Given the description of an element on the screen output the (x, y) to click on. 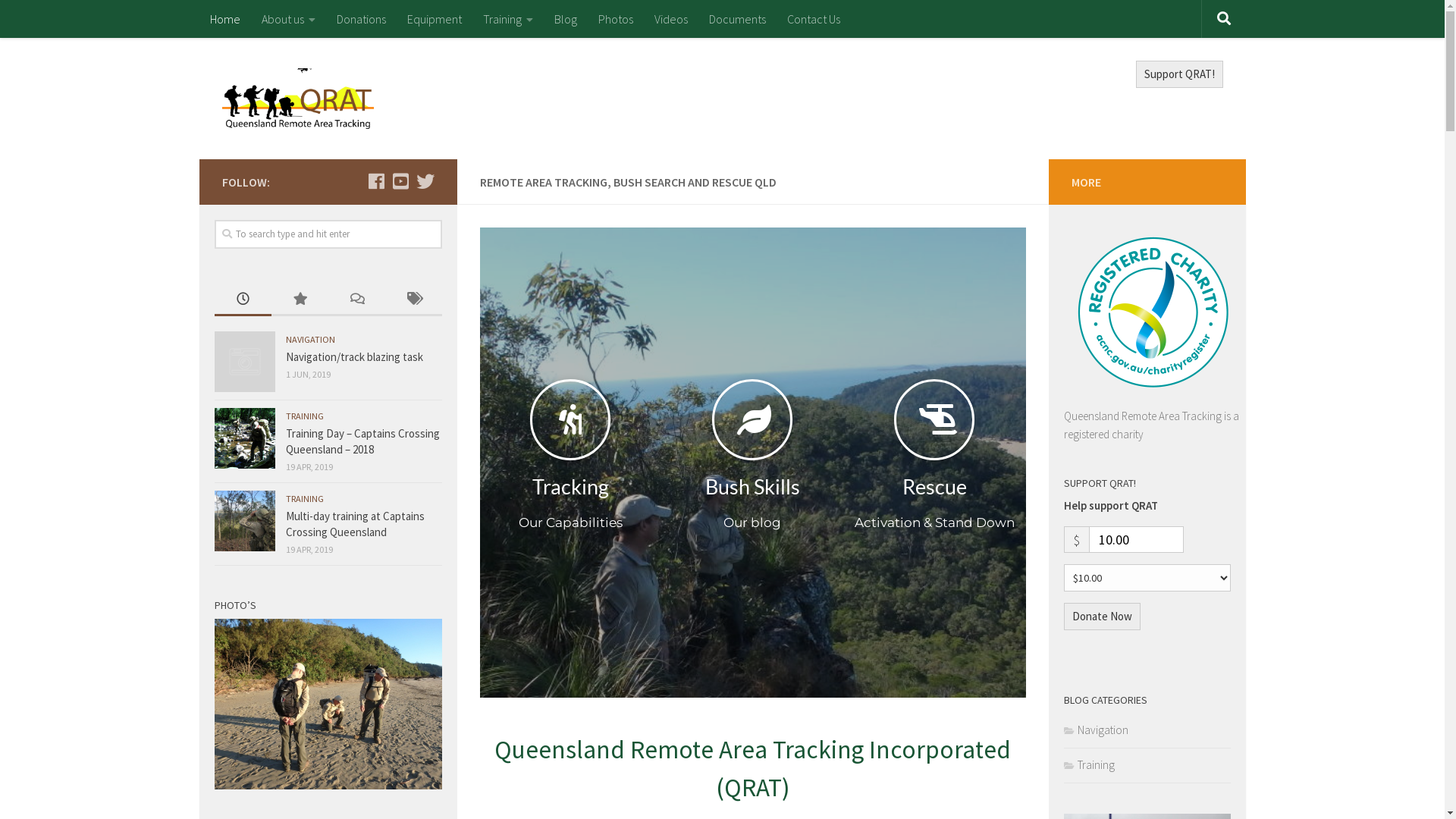
Donate Now Element type: text (1101, 616)
Multi-day training at Captains Crossing Queensland Element type: text (354, 523)
NAVIGATION Element type: text (309, 339)
Support QRAT! Element type: text (1179, 73)
TRAINING Element type: text (304, 415)
Popular Posts Element type: hover (299, 299)
Training Element type: text (1088, 764)
Videos Element type: text (670, 18)
Contact Us Element type: text (813, 18)
Recent Comments Element type: hover (355, 299)
TRAINING Element type: text (304, 498)
Rescue Element type: text (934, 485)
Follow us on Facebook Element type: hover (376, 181)
Navigation/track blazing task Element type: text (353, 356)
Documents Element type: text (736, 18)
QLD Remote Area Tracking - Bush Search - Rescue | Home page Element type: hover (297, 98)
Training Element type: text (506, 18)
About us Element type: text (287, 18)
Equipment Element type: text (433, 18)
Home Element type: text (224, 18)
Photos Element type: text (614, 18)
Tags Element type: hover (413, 299)
Donations Element type: text (361, 18)
Navigation Element type: text (1095, 729)
Bush Skills Element type: text (752, 485)
Blog Element type: text (564, 18)
Follow us on Youtube Element type: hover (400, 181)
Tracking Element type: text (570, 485)
Recent Posts Element type: hover (241, 299)
Follow us on Twitter Element type: hover (424, 181)
